Given the description of an element on the screen output the (x, y) to click on. 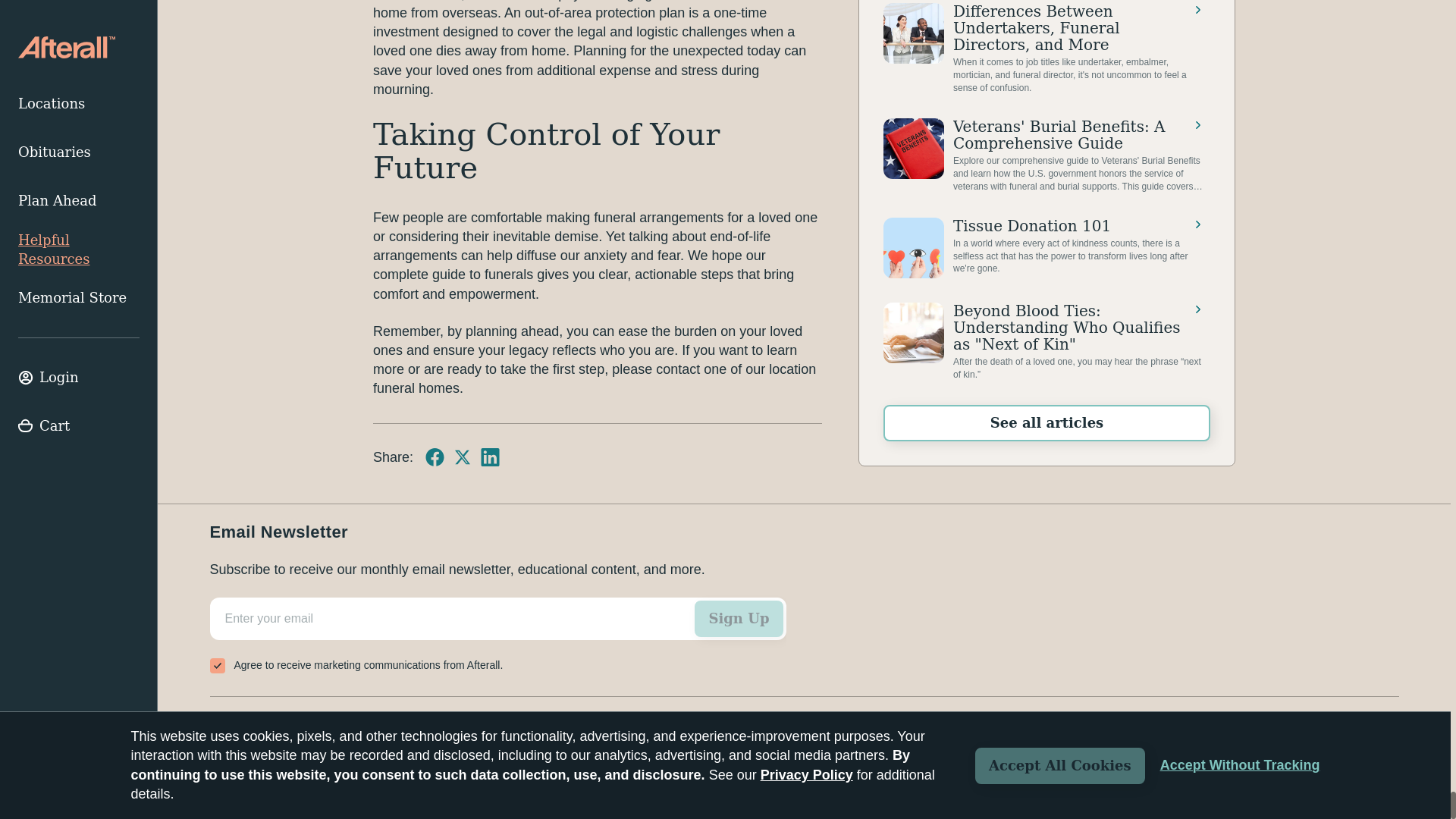
Twitter (461, 457)
Facebook (434, 456)
Email Newsletter (497, 637)
LinkedIn (489, 456)
